Given the description of an element on the screen output the (x, y) to click on. 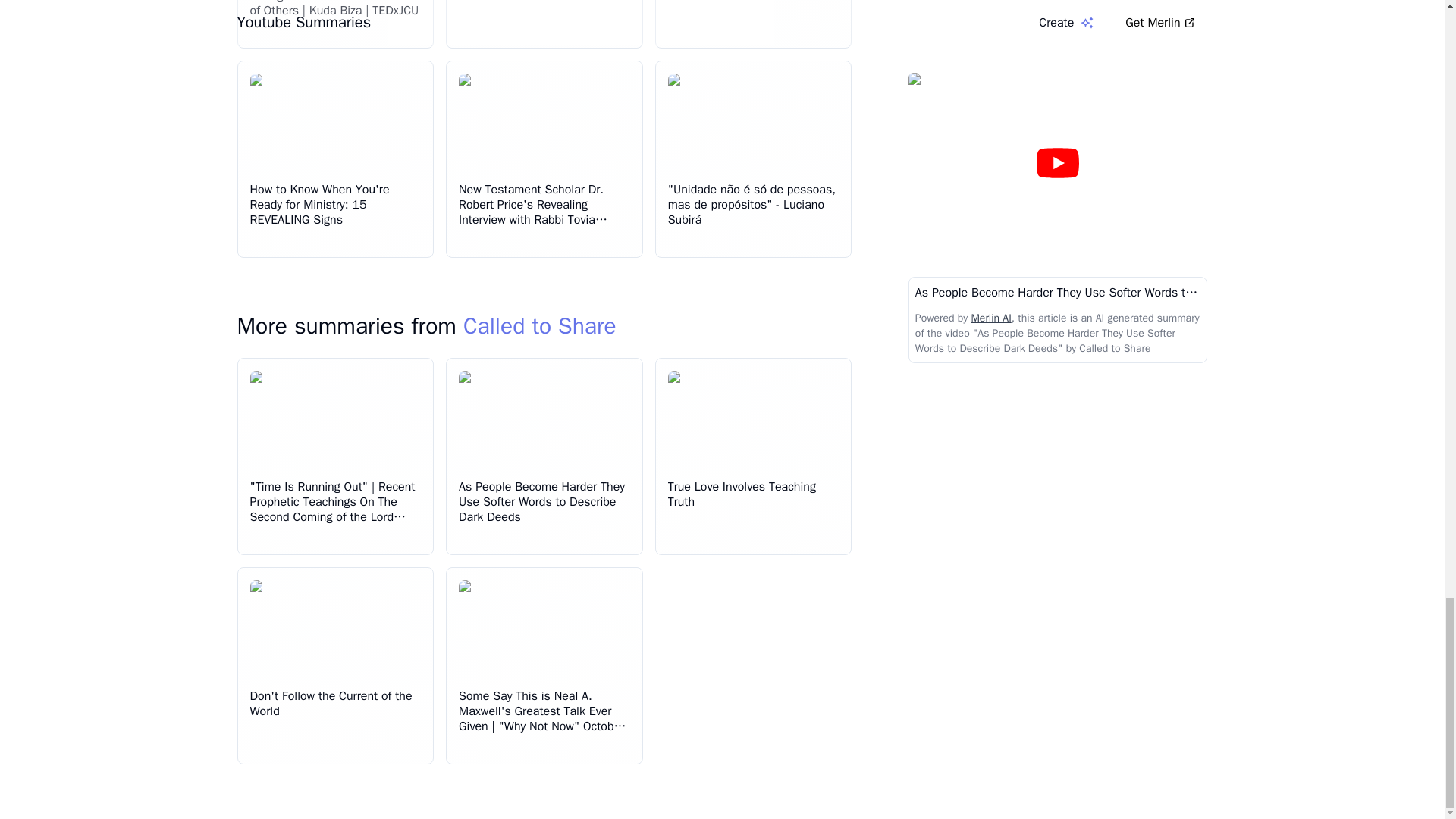
Called to Share (539, 326)
Don't Follow the Current of the World (331, 703)
True Love Involves Teaching Truth (741, 494)
